Given the description of an element on the screen output the (x, y) to click on. 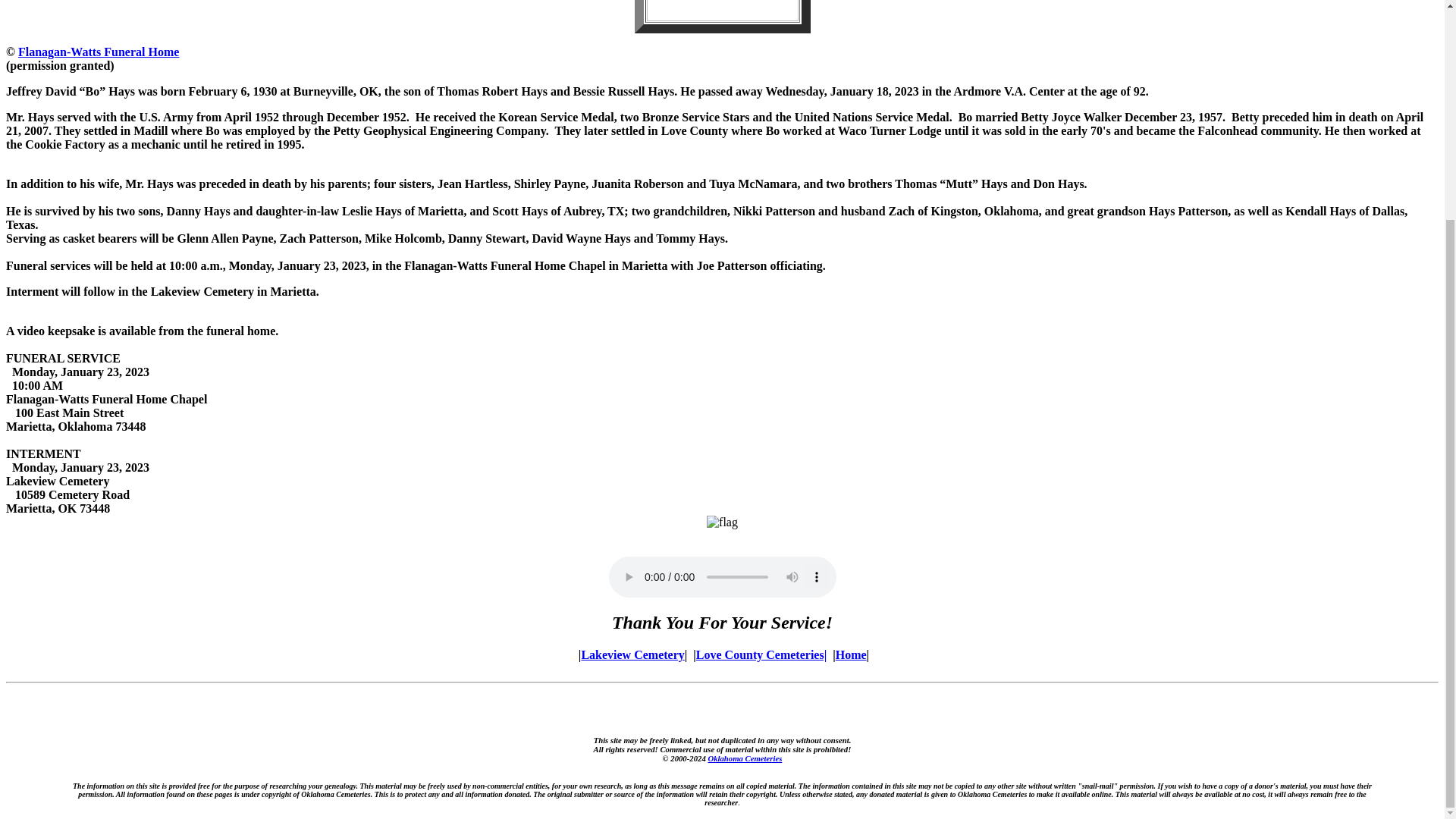
Lakeview Cemetery (632, 654)
Home (850, 654)
Oklahoma Cemeteries (744, 757)
Flanagan-Watts Funeral Home (98, 51)
